Given the description of an element on the screen output the (x, y) to click on. 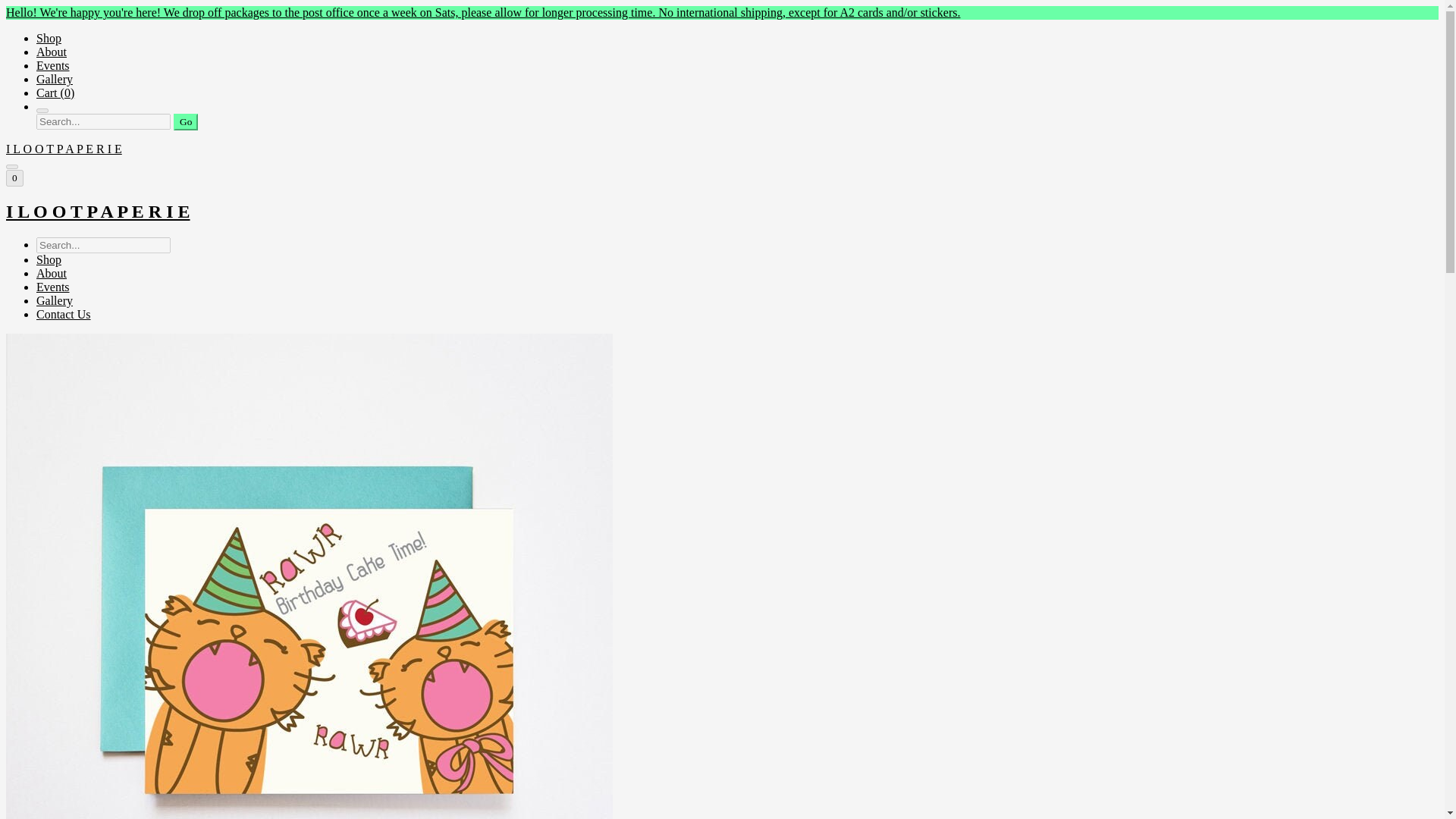
Go (185, 121)
Contact Us (63, 314)
Shop (48, 259)
Go (185, 121)
About (51, 273)
Events (52, 286)
Shop (48, 38)
Gallery (54, 300)
Gallery (54, 78)
About (51, 51)
0 (14, 177)
Events (52, 65)
